Given the description of an element on the screen output the (x, y) to click on. 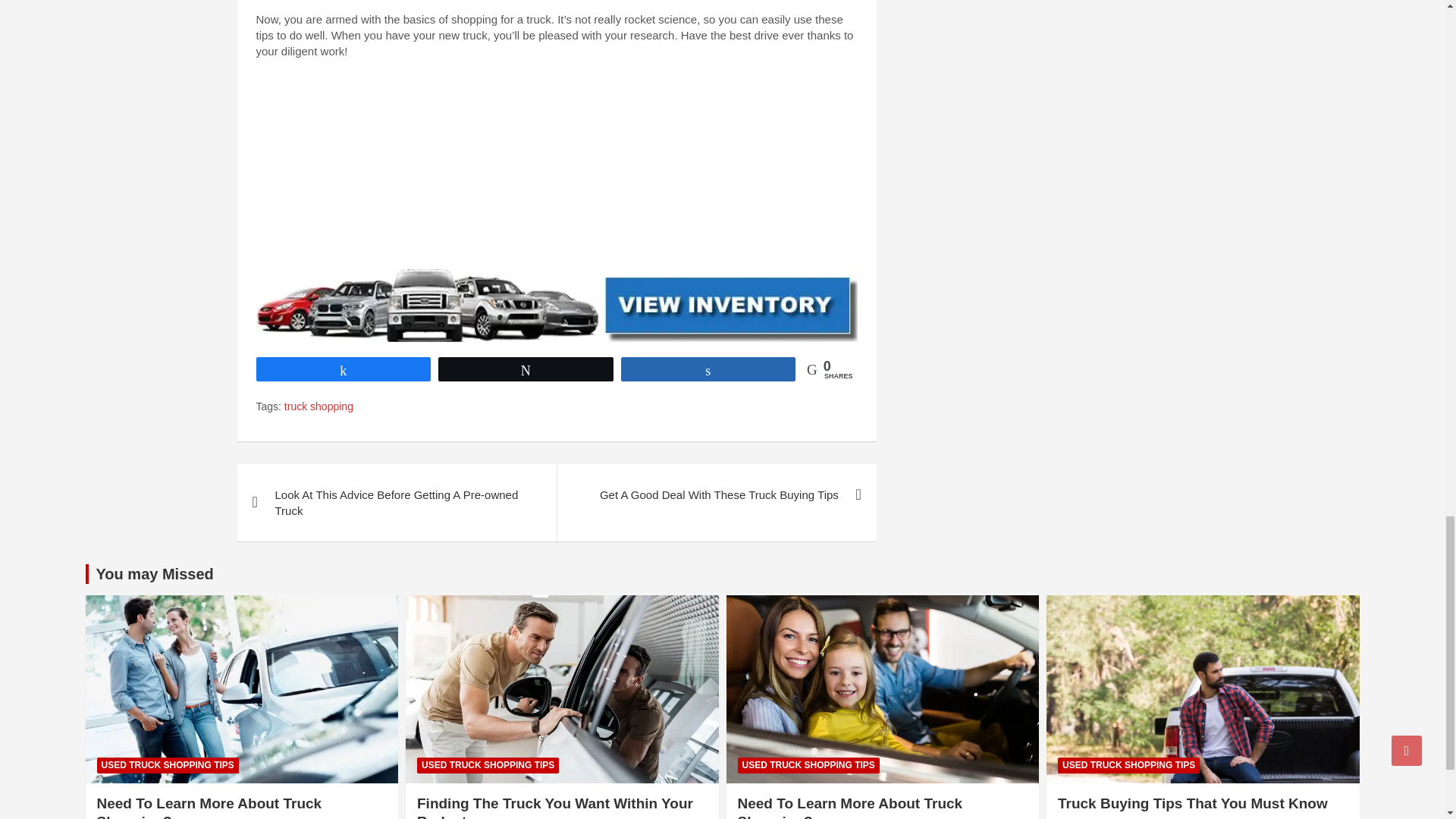
truck shopping (318, 406)
Look At This Advice Before Getting A Pre-owned Truck (395, 502)
Get A Good Deal With These Truck Buying Tips (716, 494)
